Given the description of an element on the screen output the (x, y) to click on. 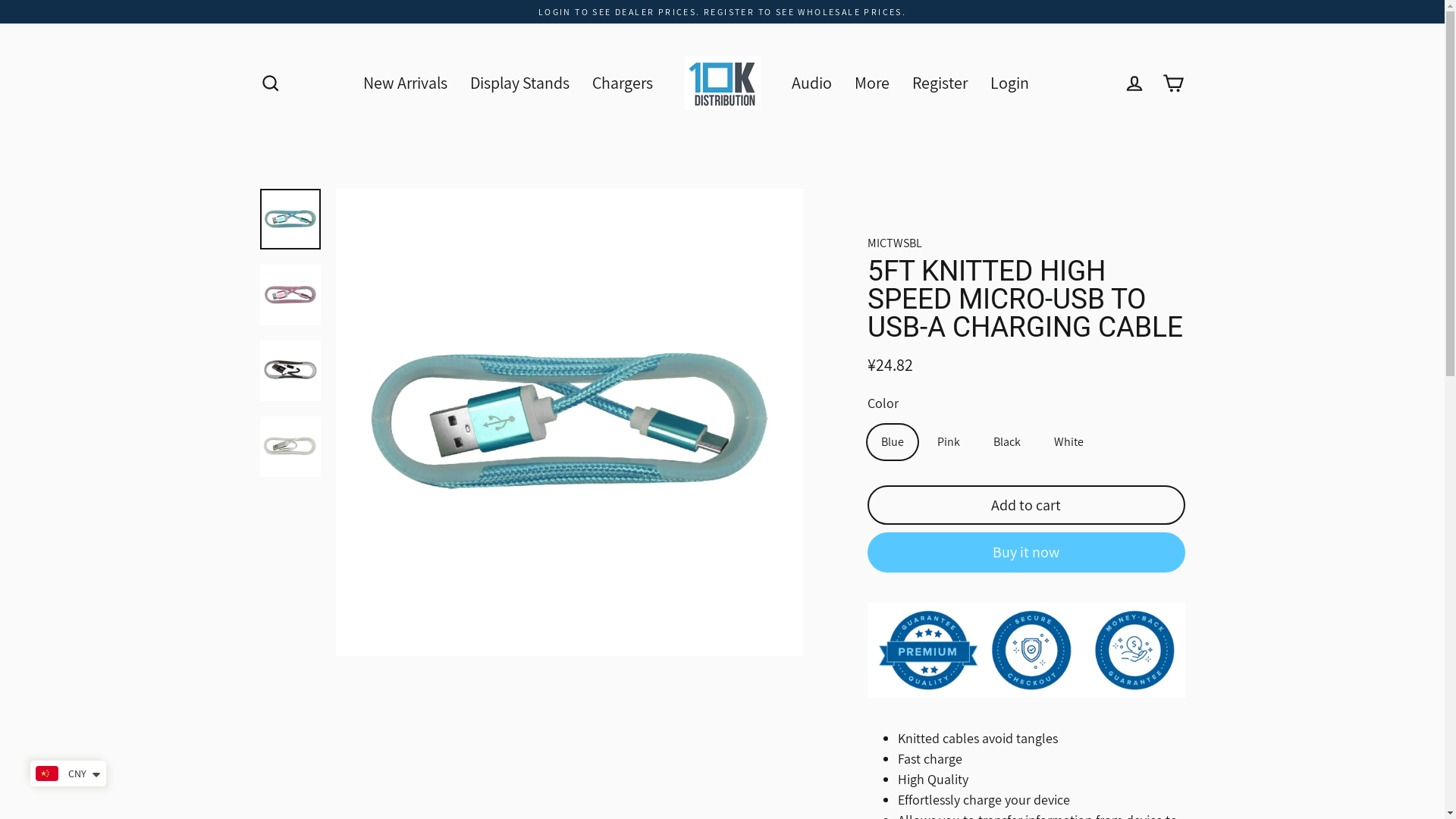
Chargers Element type: text (622, 83)
Log in Element type: text (1134, 82)
Display Stands Element type: text (519, 83)
New Arrivals Element type: text (404, 83)
Buy it now Element type: text (1026, 551)
Login Element type: text (1009, 83)
More Element type: text (871, 83)
Cart Element type: text (1173, 82)
Skip to content Element type: text (0, 0)
Audio Element type: text (811, 83)
Register Element type: text (939, 83)
Add to cart Element type: text (1026, 504)
Search Element type: text (269, 82)
